Given the description of an element on the screen output the (x, y) to click on. 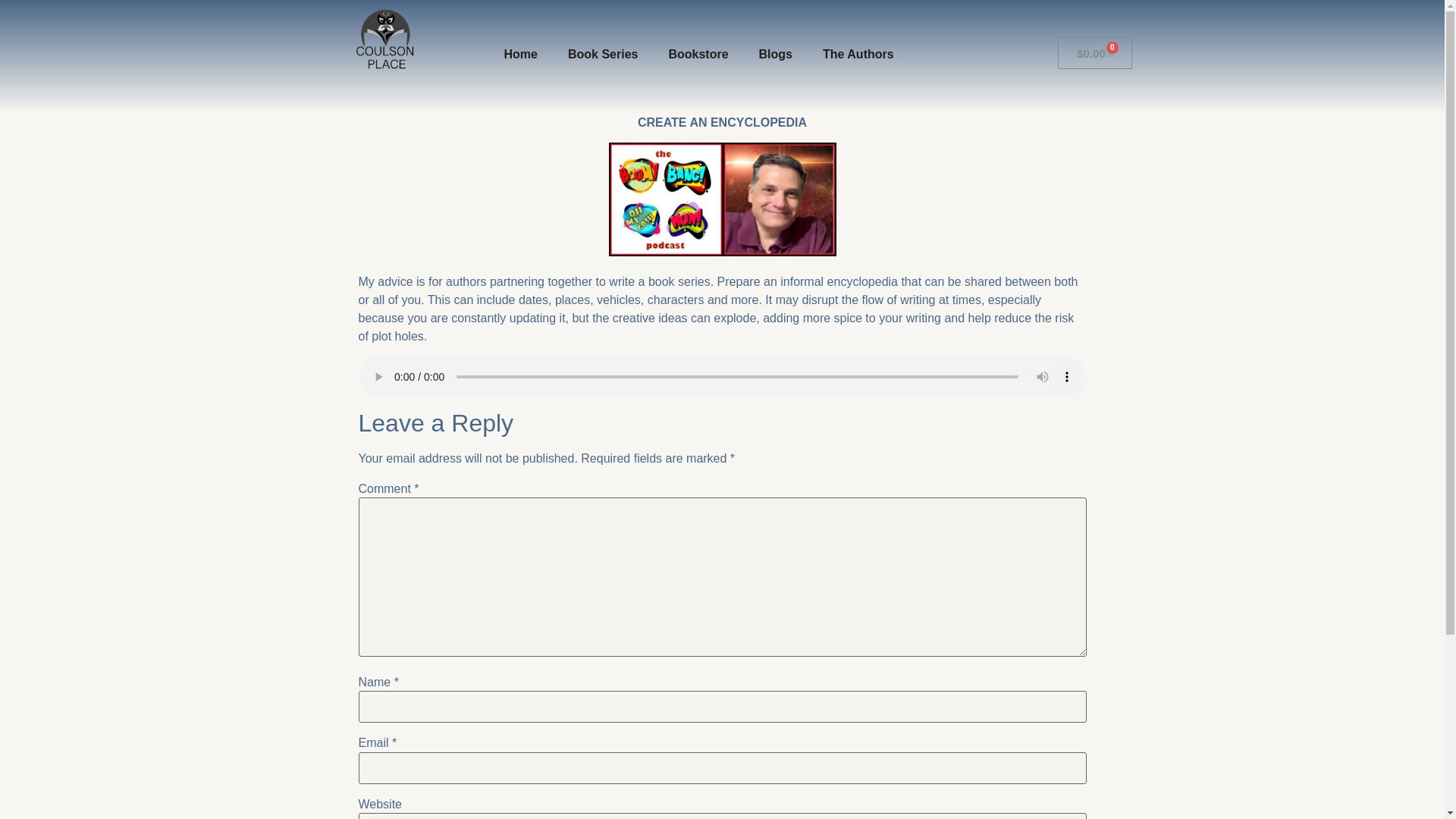
The Authors (858, 54)
Bookstore (697, 54)
Home (519, 54)
Book Series (602, 54)
Blogs (776, 54)
